Given the description of an element on the screen output the (x, y) to click on. 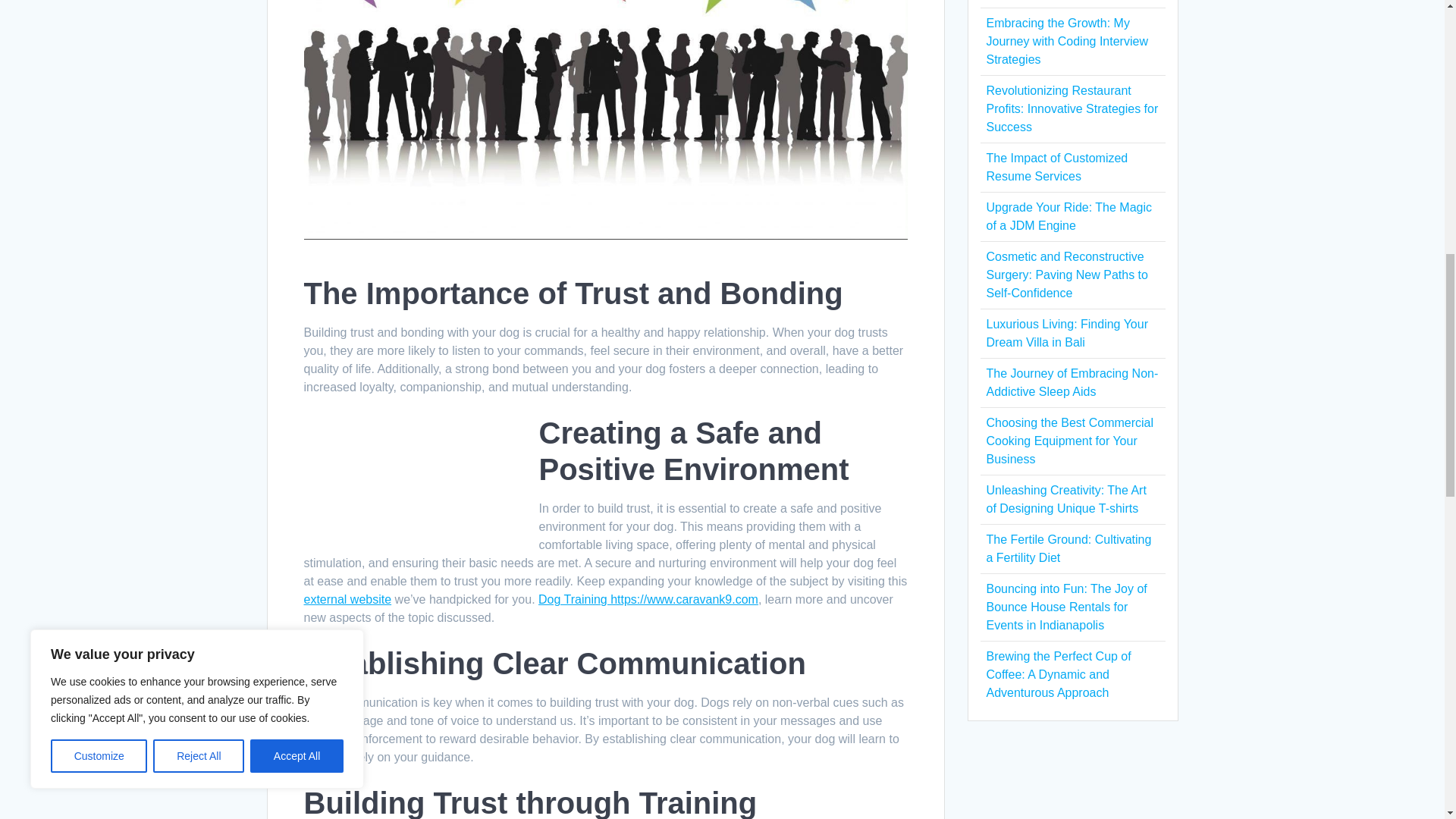
The Impact of Customized Resume Services (1055, 166)
external website (346, 599)
Upgrade Your Ride: The Magic of a JDM Engine (1068, 215)
